Given the description of an element on the screen output the (x, y) to click on. 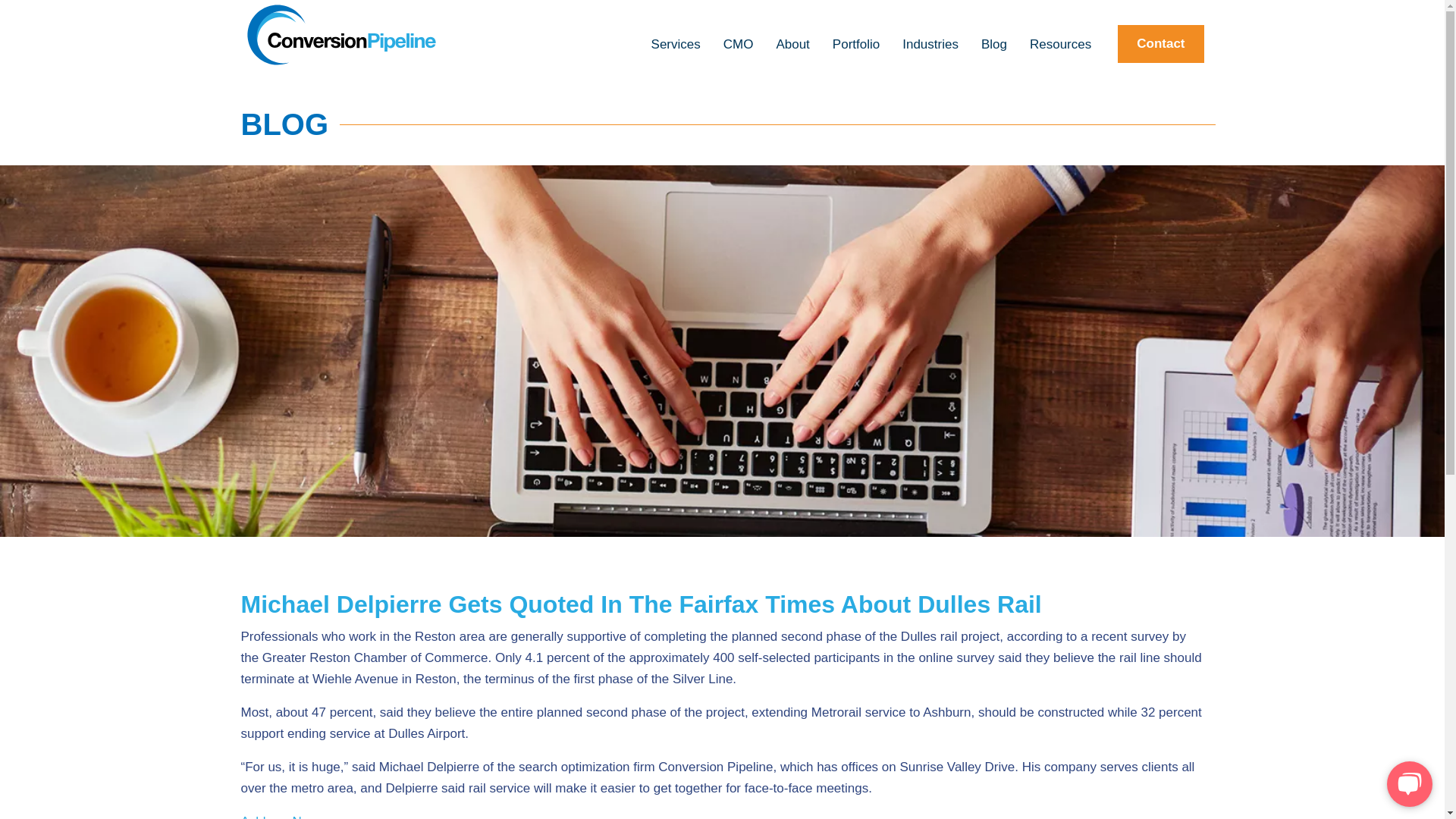
About (792, 49)
CMO (738, 49)
Services (675, 49)
Portfolio (856, 49)
